Given the description of an element on the screen output the (x, y) to click on. 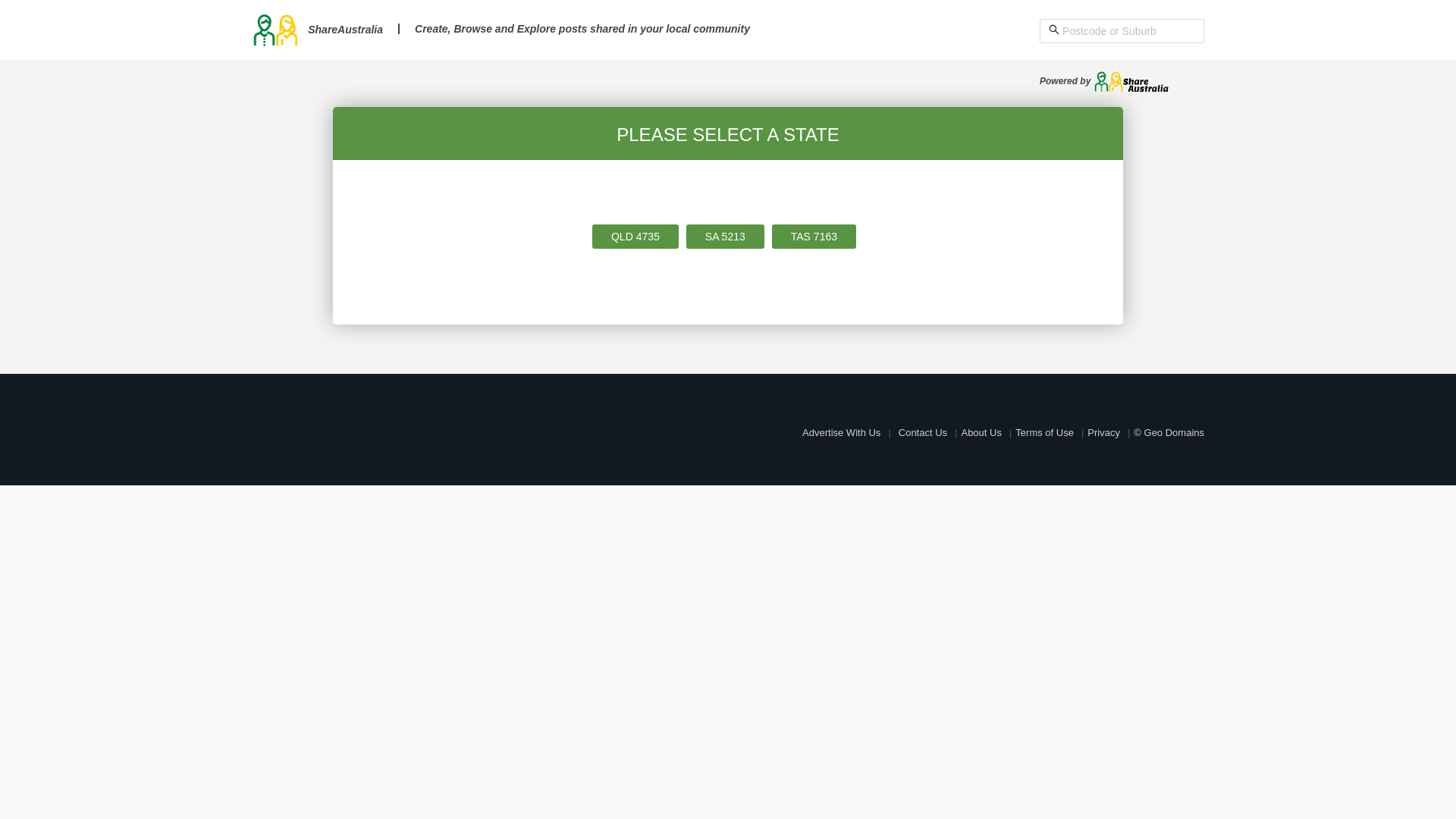
Advertise With Us Element type: text (841, 432)
Powered by Element type: text (1104, 80)
Contact Us Element type: text (922, 432)
Terms of Use Element type: text (1044, 432)
QLD 4735 Element type: text (635, 236)
ShareAustralia Element type: text (316, 29)
Privacy Element type: text (1103, 432)
SA 5213 Element type: text (725, 236)
About Us Element type: text (980, 432)
TAS 7163 Element type: text (813, 236)
